Given the description of an element on the screen output the (x, y) to click on. 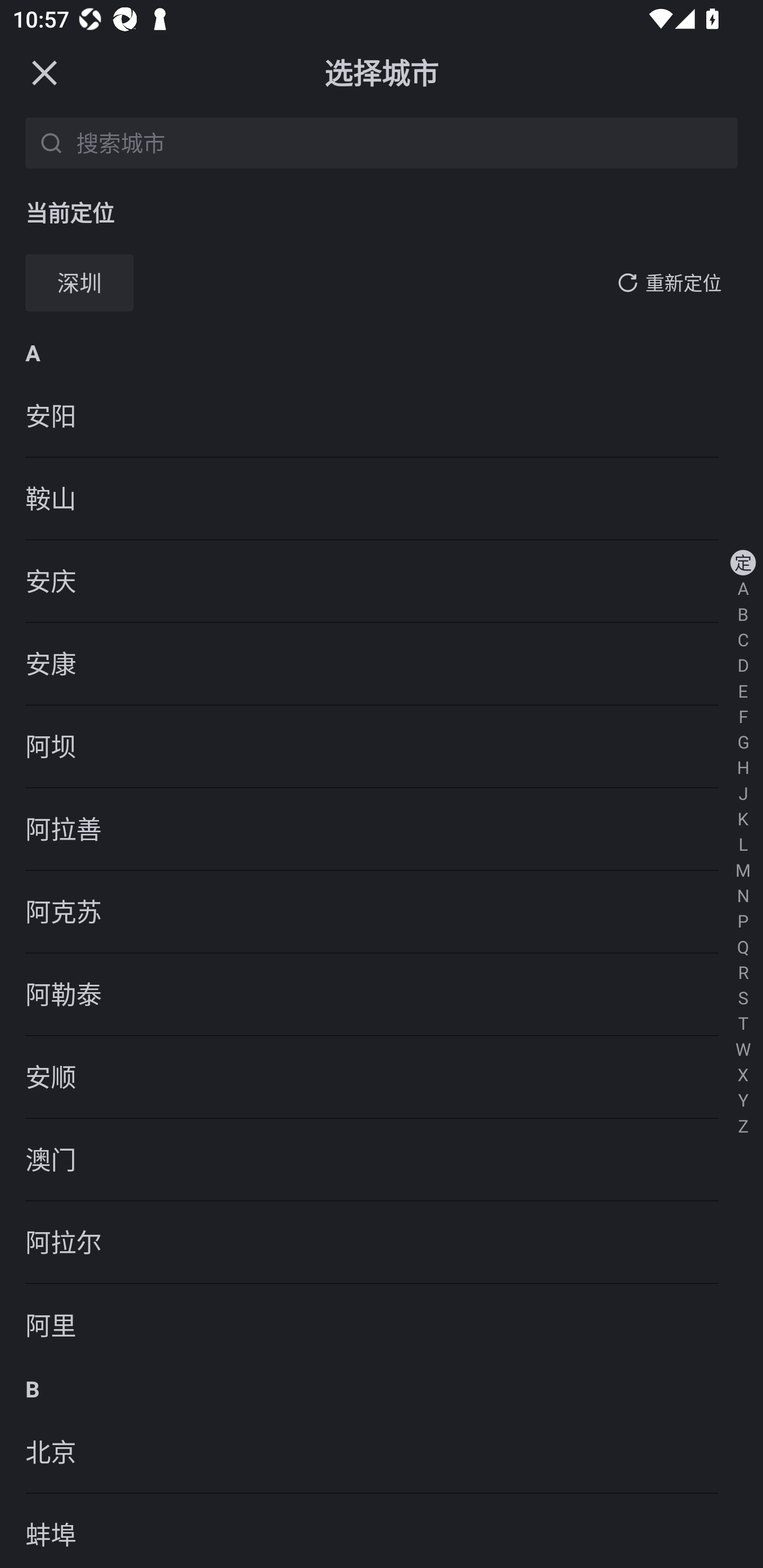
 (44, 71)
搜索城市 (403, 142)
深圳 (79, 283)
重新定位 (683, 282)
 (627, 282)
安阳 (381, 415)
鞍山 (381, 498)
安庆 (381, 581)
安康 (381, 663)
阿坝 (381, 746)
阿拉善 (381, 829)
阿克苏 (381, 911)
阿勒泰 (381, 994)
安顺 (381, 1077)
澳门 (381, 1160)
阿拉尔 (381, 1242)
阿里 (381, 1325)
北京 (381, 1452)
蚌埠 (381, 1531)
